Given the description of an element on the screen output the (x, y) to click on. 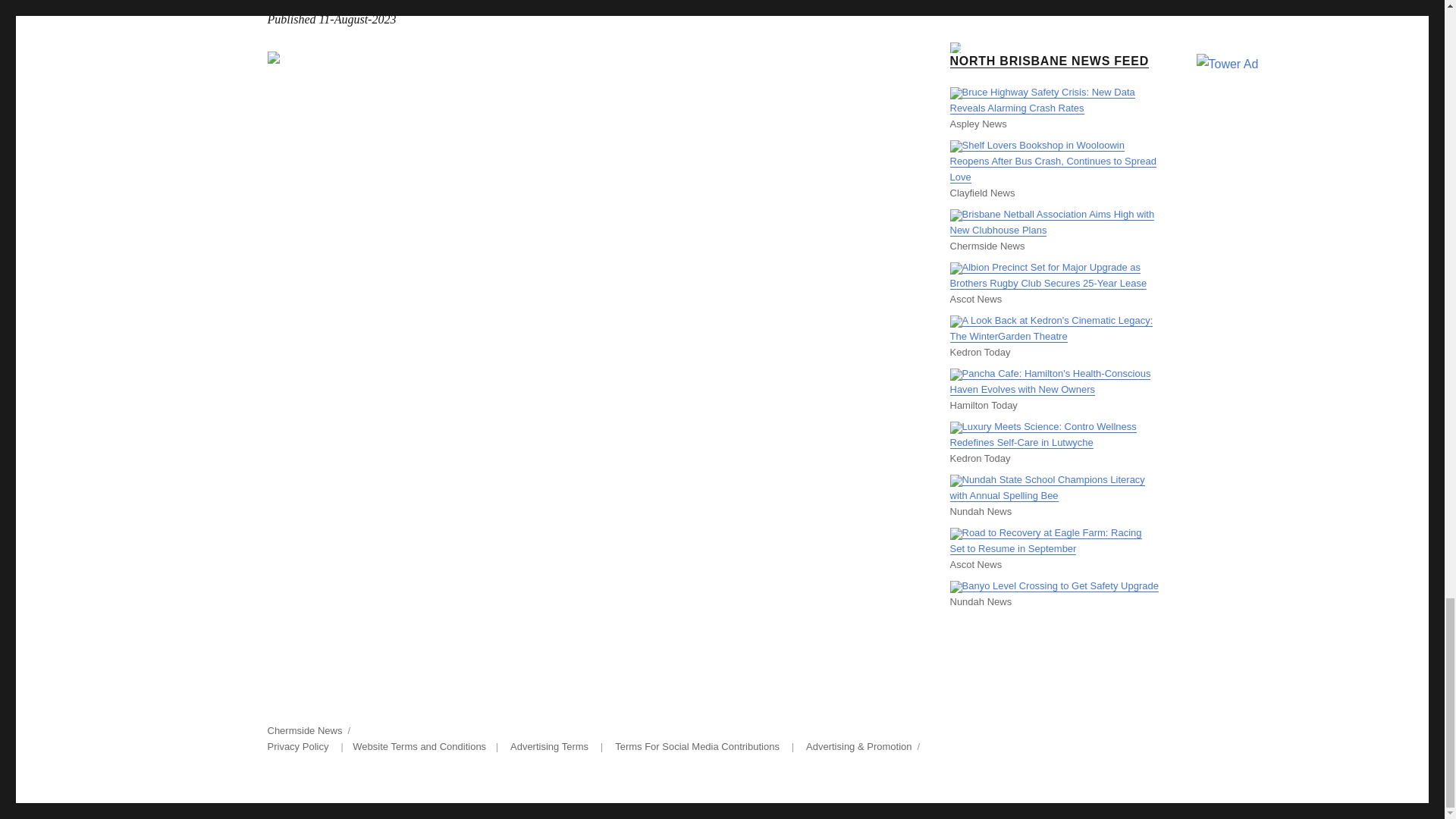
NORTH BRISBANE NEWS FEED (1048, 60)
